Given the description of an element on the screen output the (x, y) to click on. 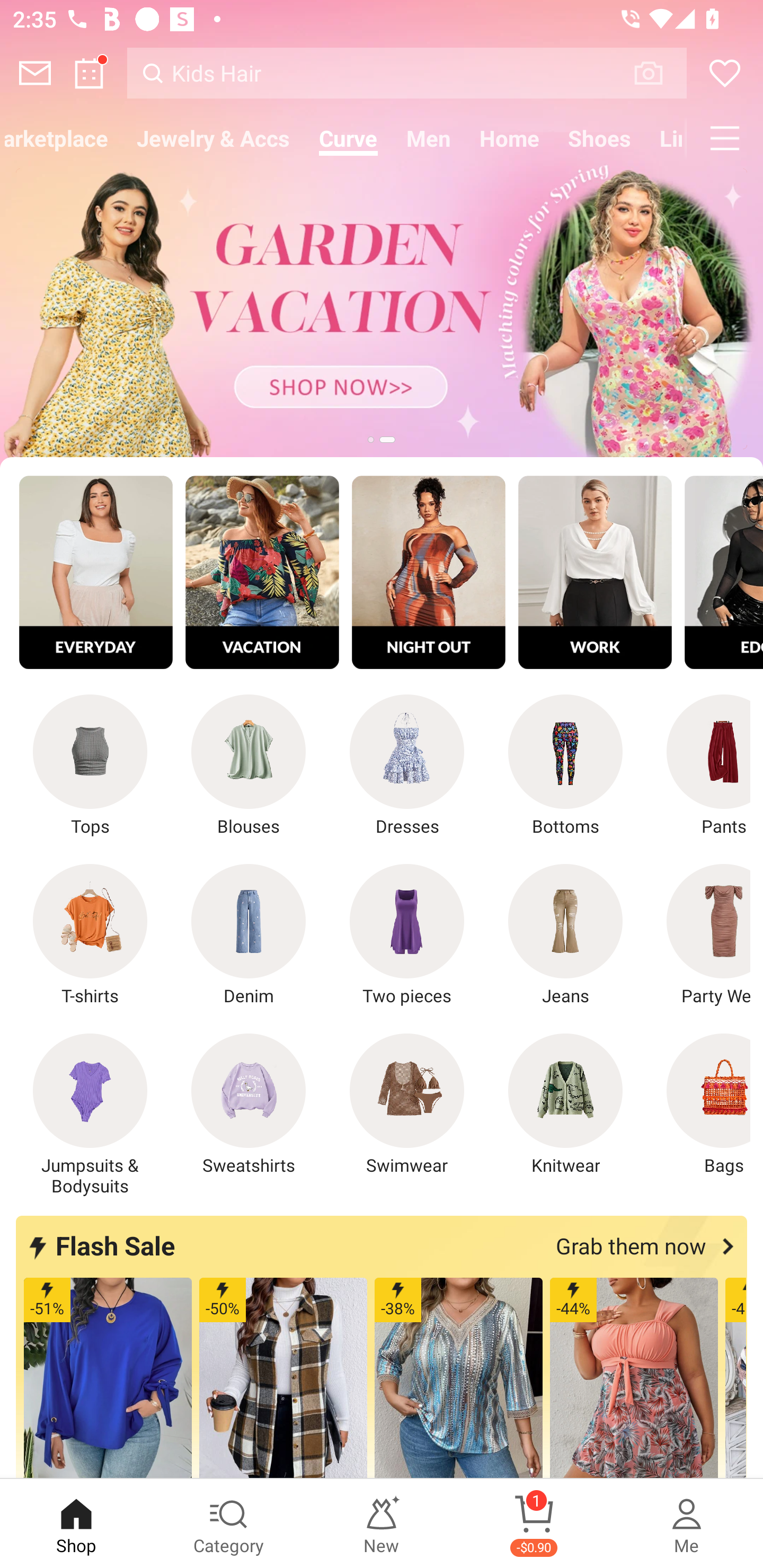
Wishlist (724, 72)
VISUAL SEARCH (657, 72)
Marketplace (61, 137)
Jewelry & Accs (213, 137)
Curve (348, 137)
Men (428, 137)
Home (509, 137)
Shoes (599, 137)
Lingerie & Sleep (665, 137)
Tops (89, 765)
Blouses (248, 765)
Dresses (406, 765)
Bottoms (565, 765)
Pants (698, 765)
T-shirts (89, 934)
Denim (248, 934)
Two pieces (406, 934)
Jeans (565, 934)
Party Wear (698, 934)
Jumpsuits & Bodysuits (89, 1114)
Sweatshirts (248, 1104)
Swimwear (406, 1104)
Knitwear (565, 1104)
Bags (698, 1104)
Category (228, 1523)
New (381, 1523)
Cart 1 -$0.90 (533, 1523)
Me (686, 1523)
